Given the description of an element on the screen output the (x, y) to click on. 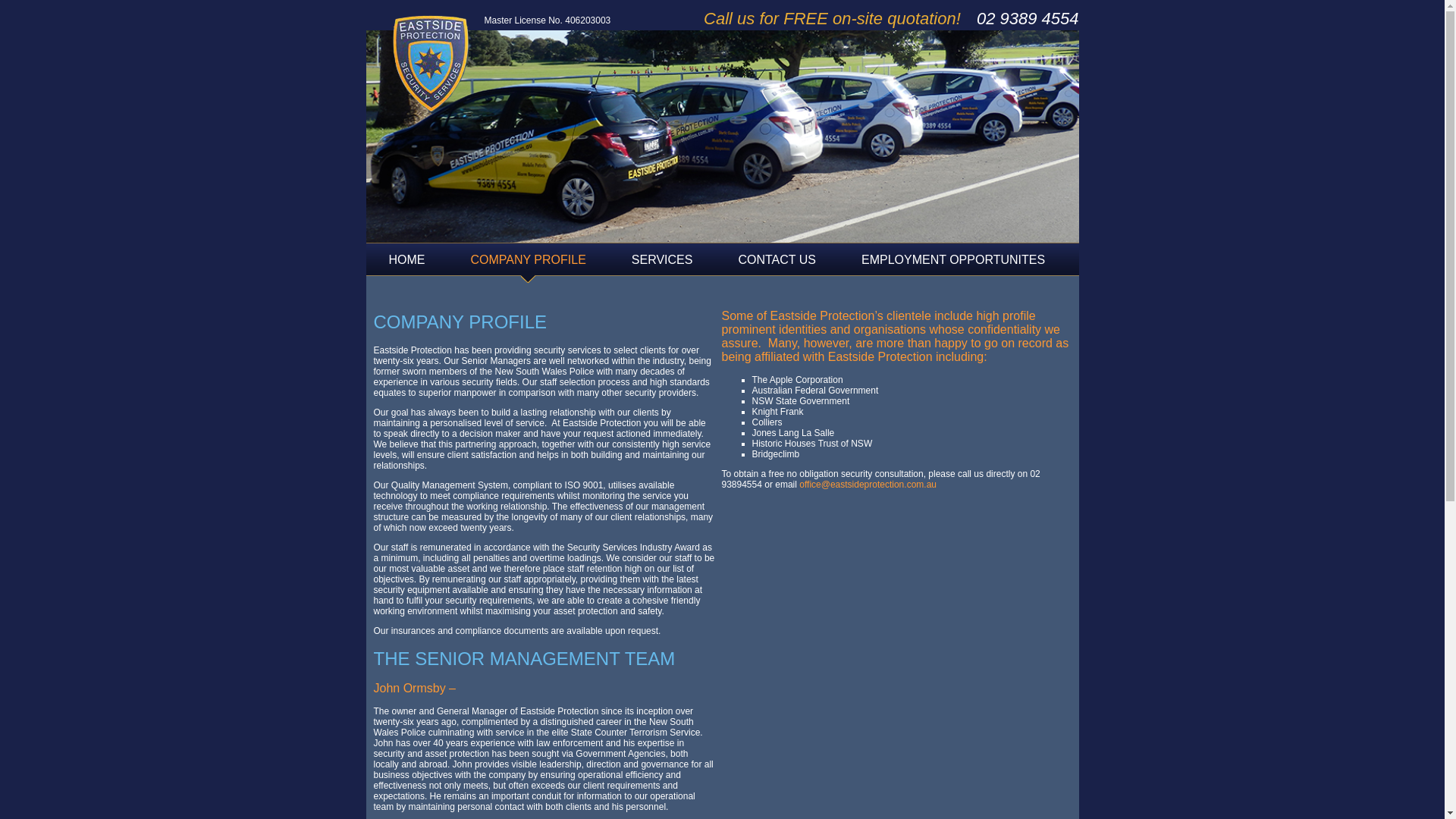
COMPANY PROFILE Element type: text (527, 263)
CONTACT US Element type: text (776, 263)
office@eastsideprotection.com.au Element type: text (867, 484)
HOME Element type: text (406, 263)
SERVICES Element type: text (662, 263)
EMPLOYMENT OPPORTUNITES Element type: text (952, 263)
